Given the description of an element on the screen output the (x, y) to click on. 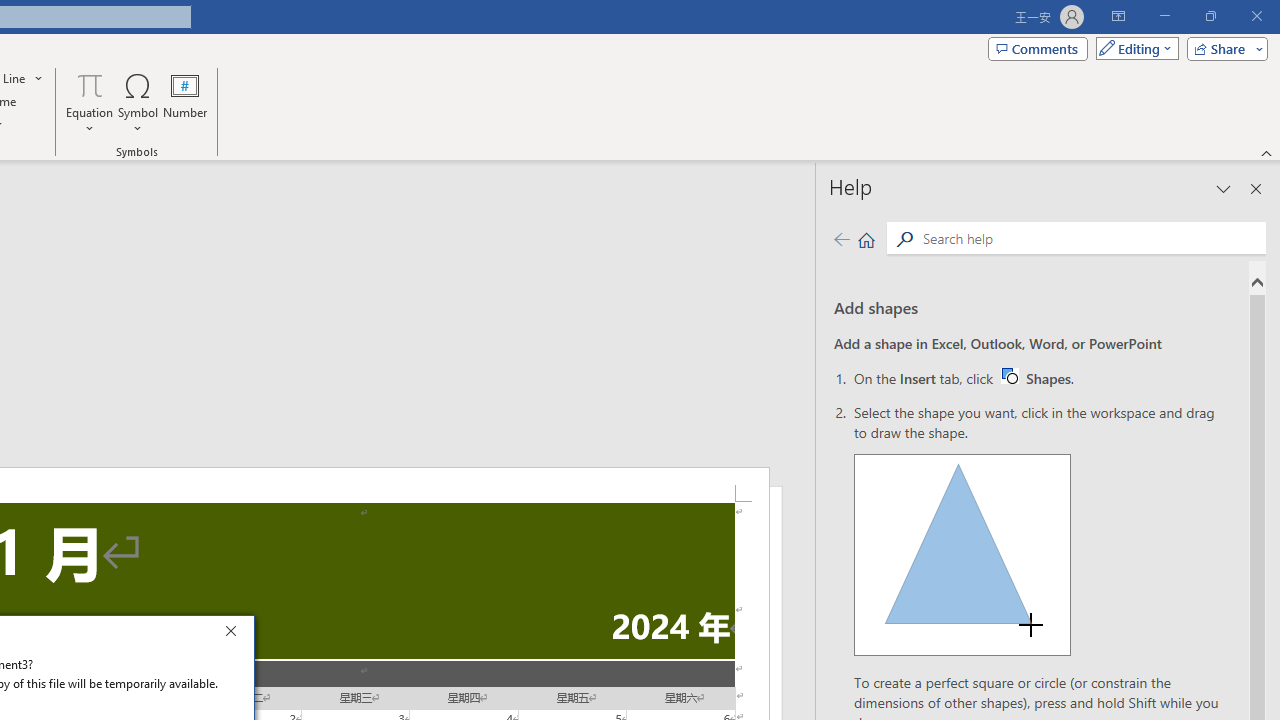
Symbol (138, 102)
Word W32 Shapes button icon (1009, 375)
Drawing a shape (962, 554)
